Given the description of an element on the screen output the (x, y) to click on. 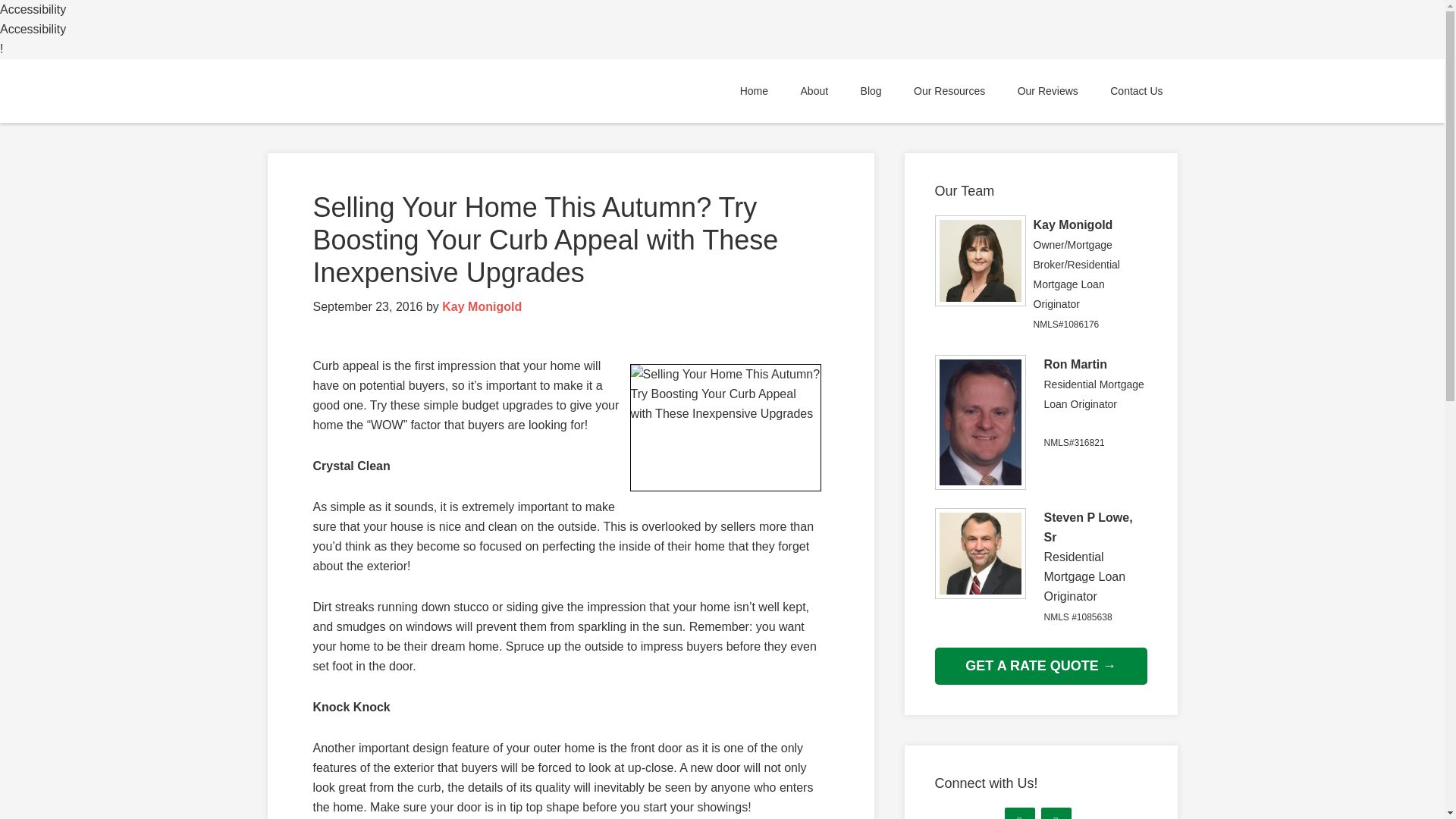
Our Resources (948, 90)
Blog (870, 90)
Kay Monigold (481, 306)
Avenue Mortgage, LLC (403, 90)
Our Reviews (1048, 90)
Contact Us (1136, 90)
Home (754, 90)
About (814, 90)
